Given the description of an element on the screen output the (x, y) to click on. 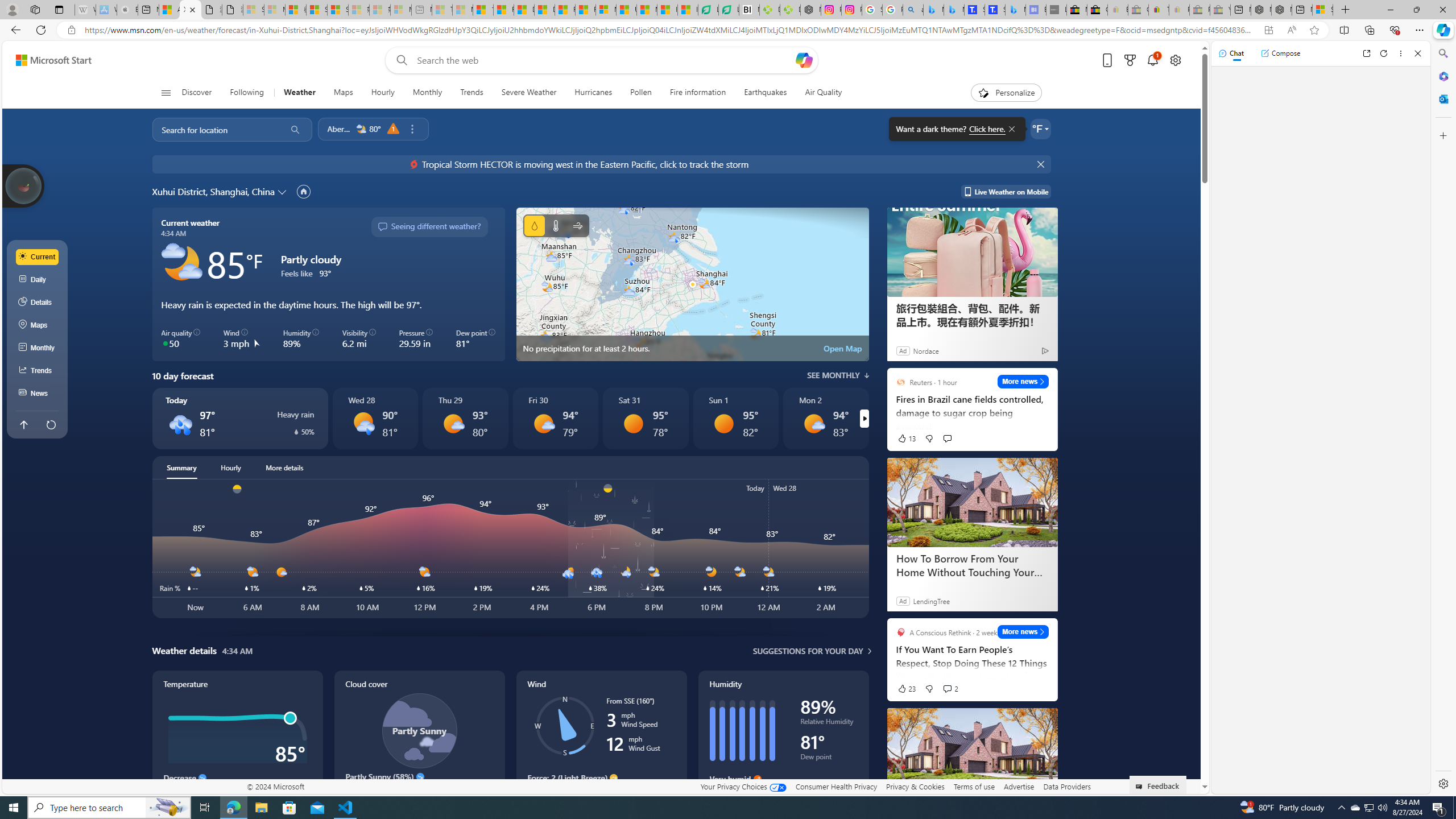
Monthly (427, 92)
Open link in new tab (1366, 53)
Partly cloudy (181, 263)
Xuhui District, Shanghai, China (213, 191)
Microsoft Services Agreement - Sleeping (274, 9)
Class: button-glyph (165, 92)
Weather settings (1040, 128)
Data Providers (1066, 785)
LendingTree (930, 601)
